Given the description of an element on the screen output the (x, y) to click on. 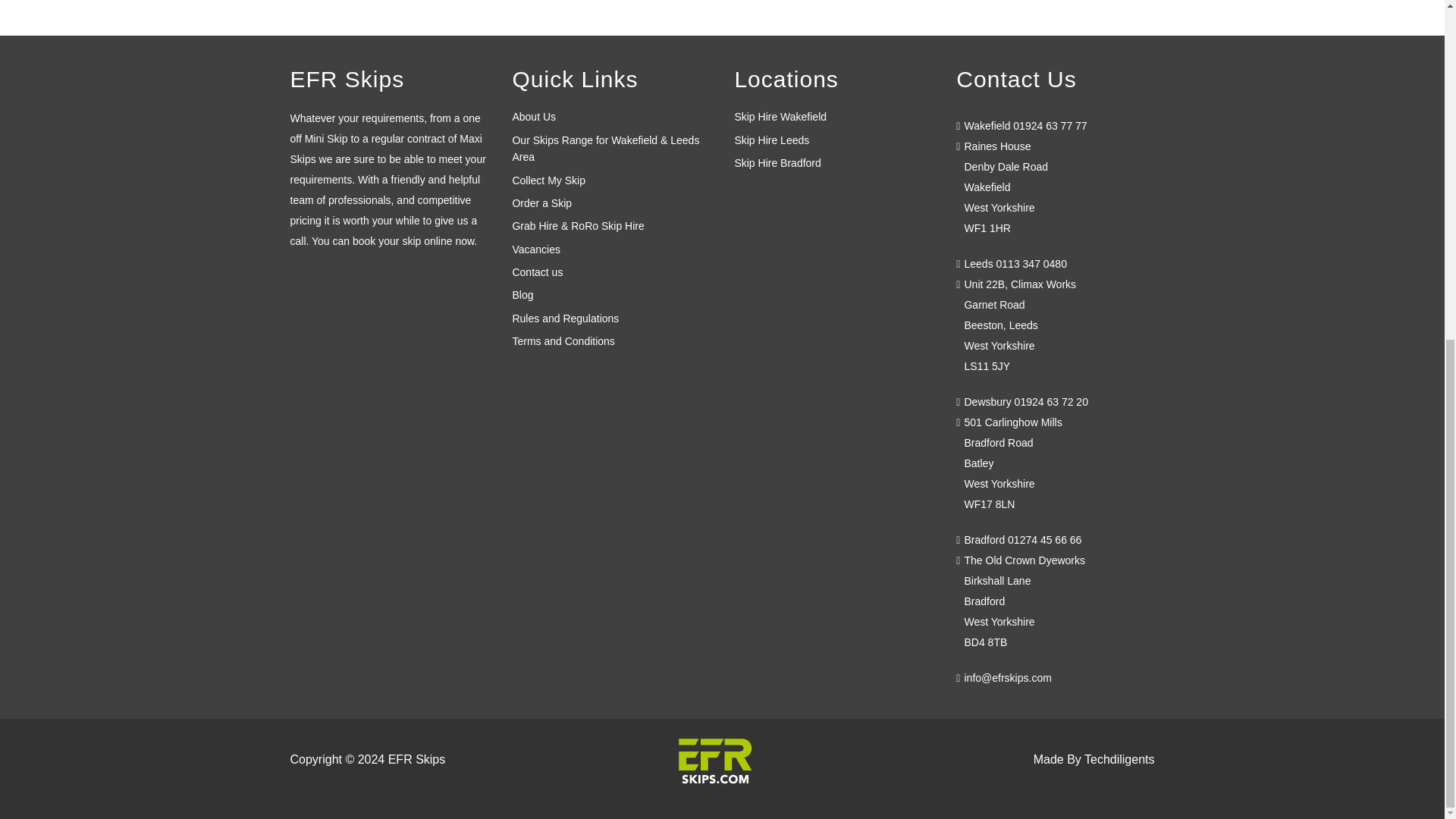
Contact us (537, 272)
About Us (534, 116)
Order a Skip (542, 203)
Rules and Regulations (565, 318)
Collect My Skip (548, 180)
EFR Skips (714, 768)
Terms and Conditions (563, 340)
Vacancies (536, 249)
Blog (522, 295)
